Given the description of an element on the screen output the (x, y) to click on. 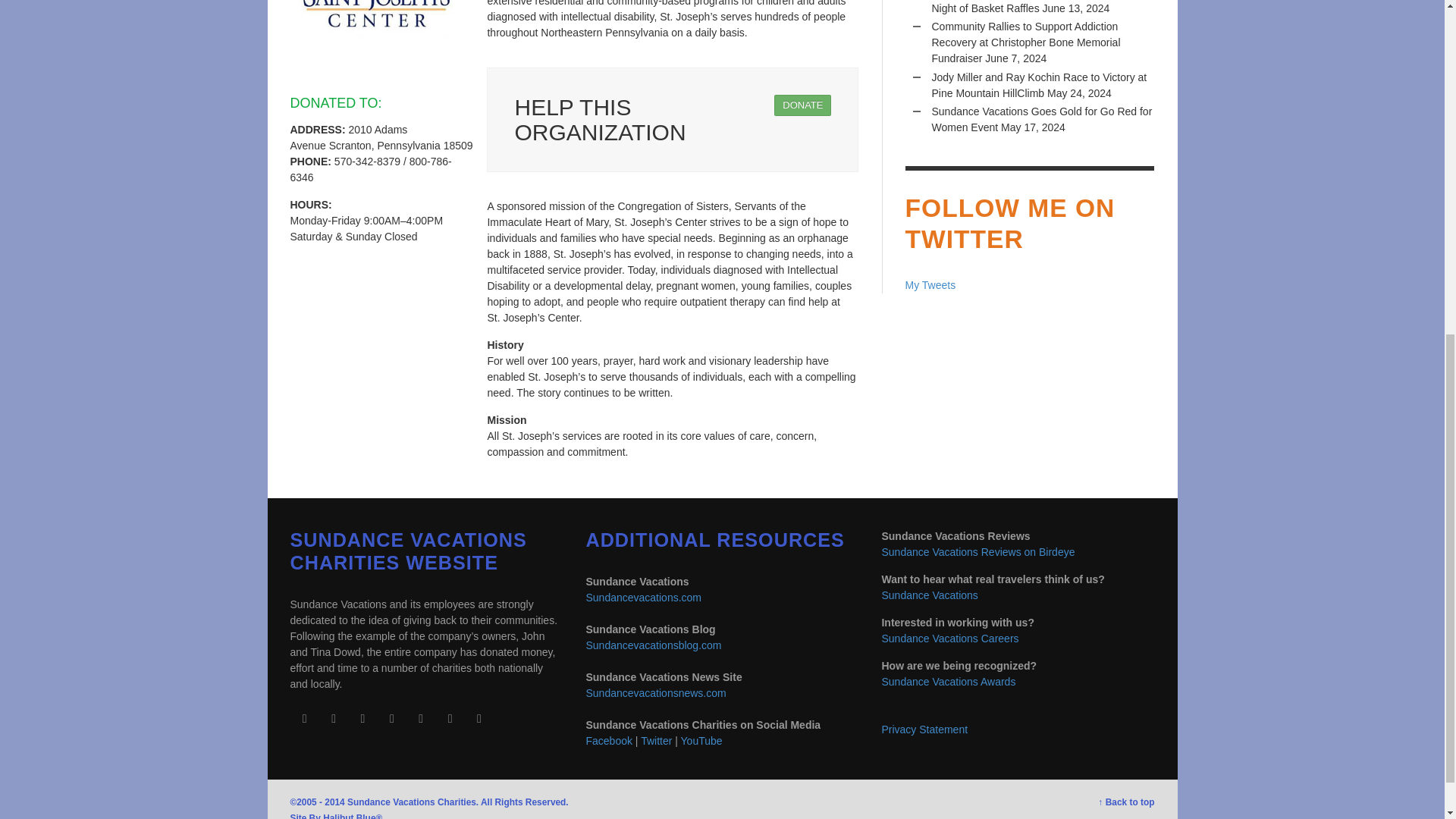
St Joseph Center (376, 34)
Sundancevacations.com (643, 597)
My Tweets (930, 285)
Facebook (303, 718)
LinkedIn (362, 718)
Sundancevacationsblog.com (652, 645)
Instagram (332, 718)
Pinterest (391, 718)
